Given the description of an element on the screen output the (x, y) to click on. 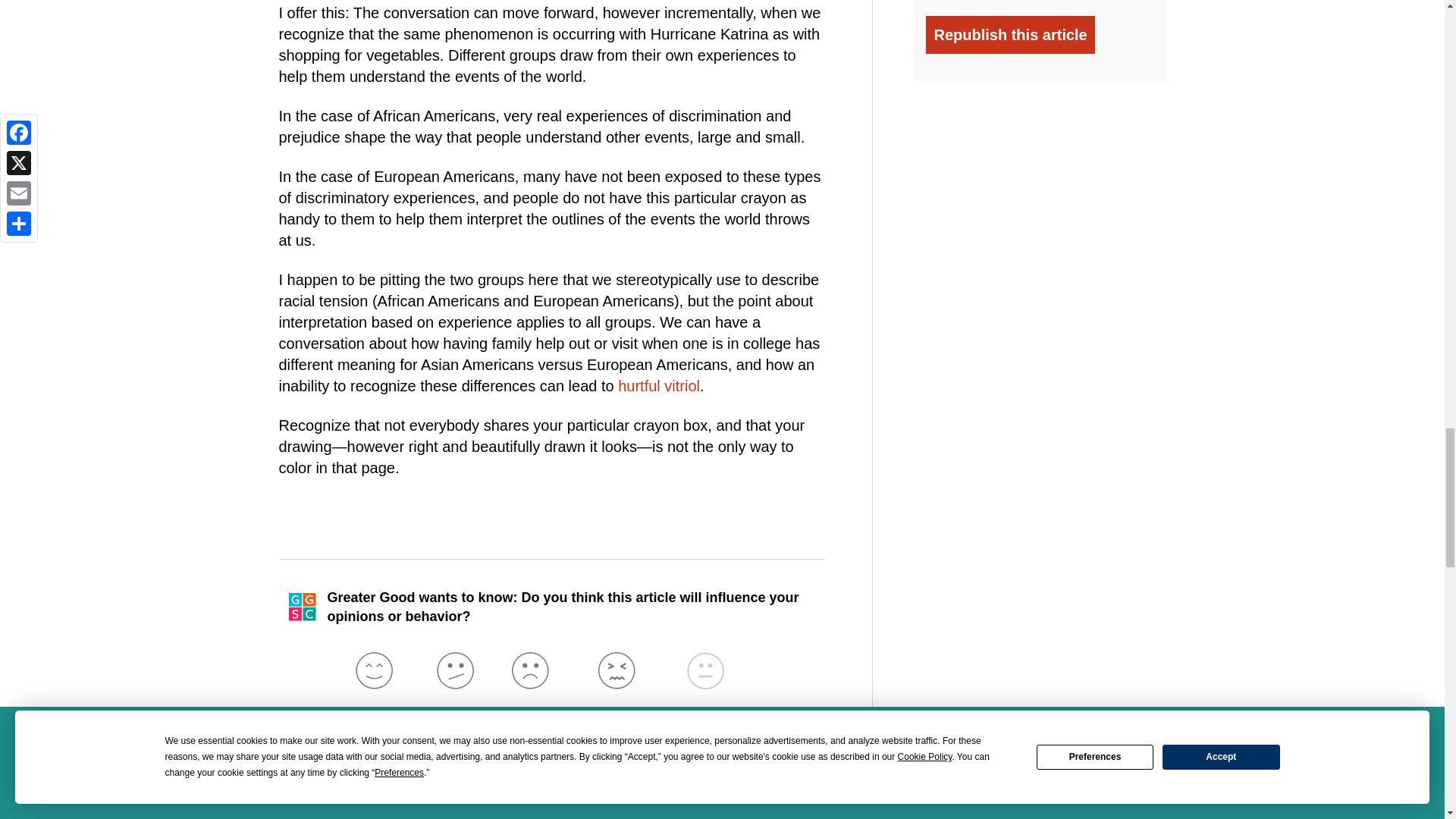
Sign Up (781, 795)
Republish this article (1010, 34)
